Given the description of an element on the screen output the (x, y) to click on. 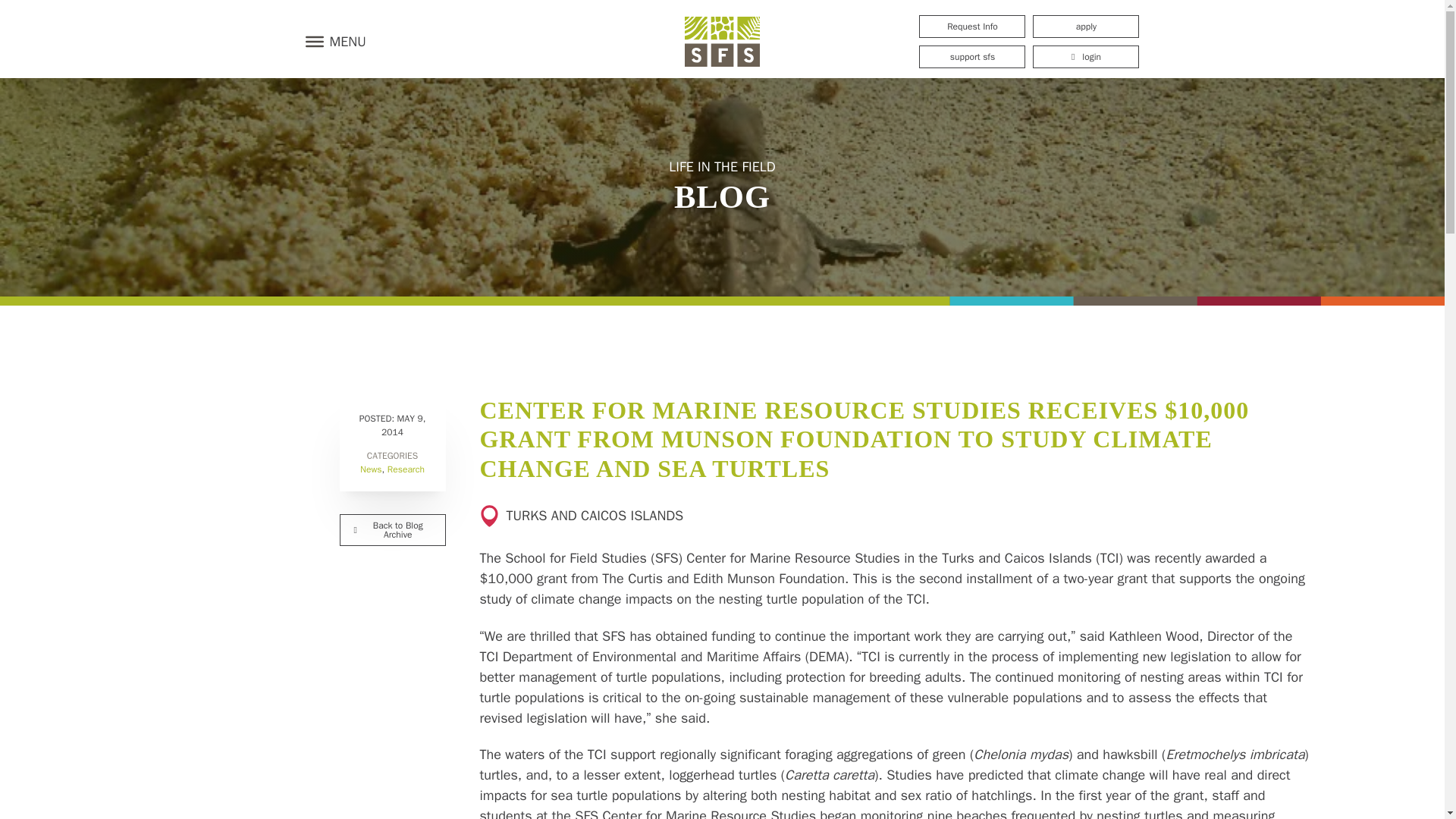
login (1085, 56)
MENU (331, 41)
Request Info (971, 26)
apply (1085, 26)
support sfs (971, 56)
